Given the description of an element on the screen output the (x, y) to click on. 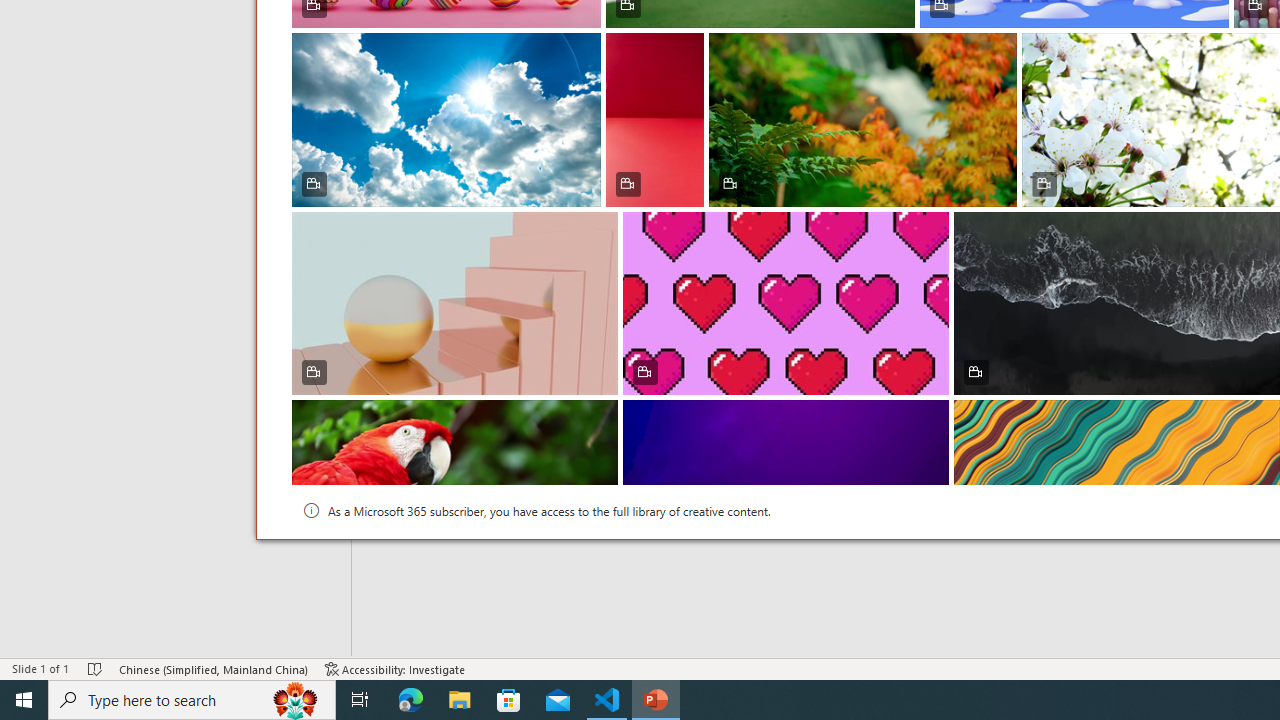
Thumbnail (1265, 414)
